Given the description of an element on the screen output the (x, y) to click on. 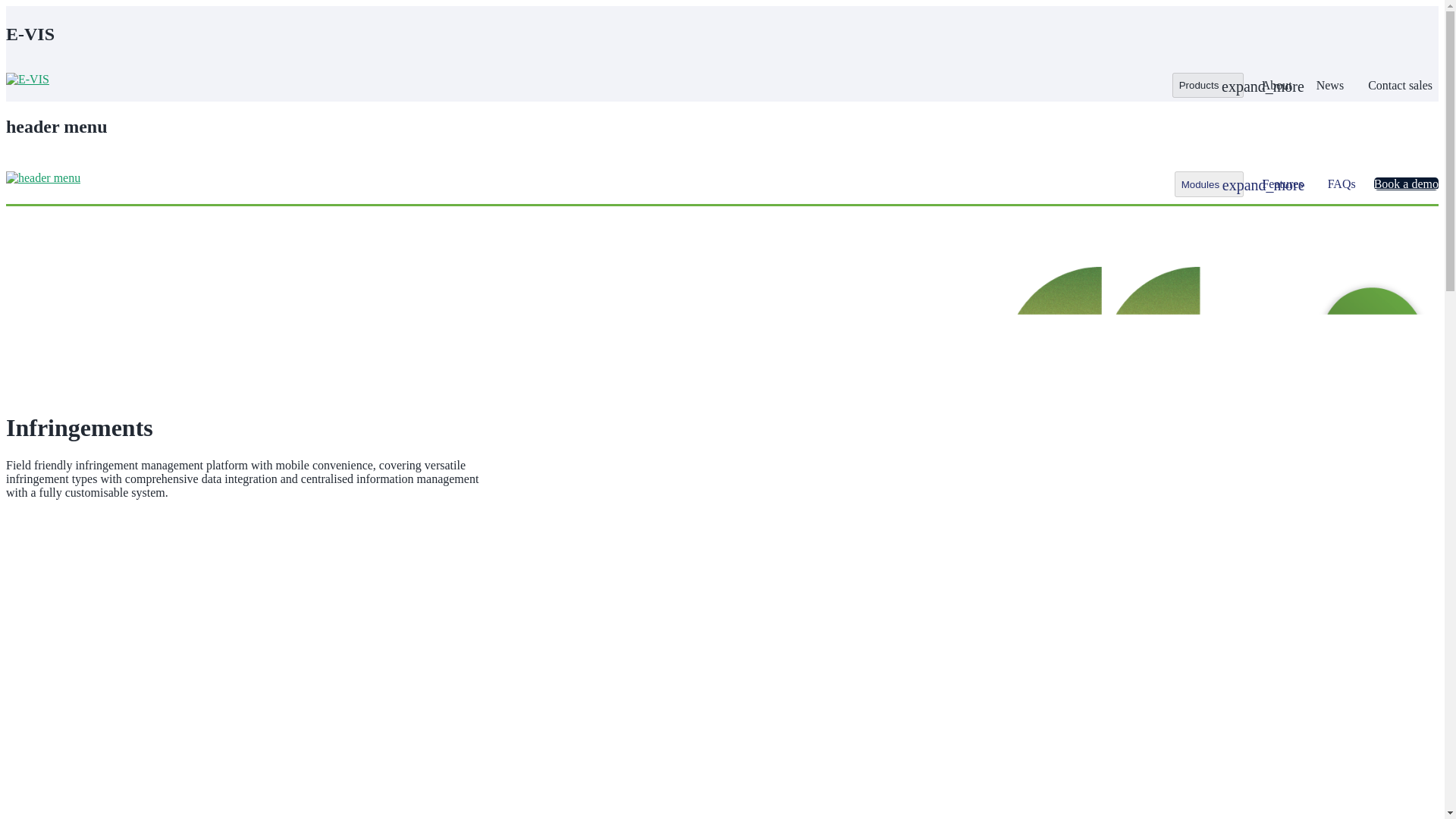
Products (1207, 85)
About (1276, 85)
Modules (1208, 184)
News (1329, 85)
